Given the description of an element on the screen output the (x, y) to click on. 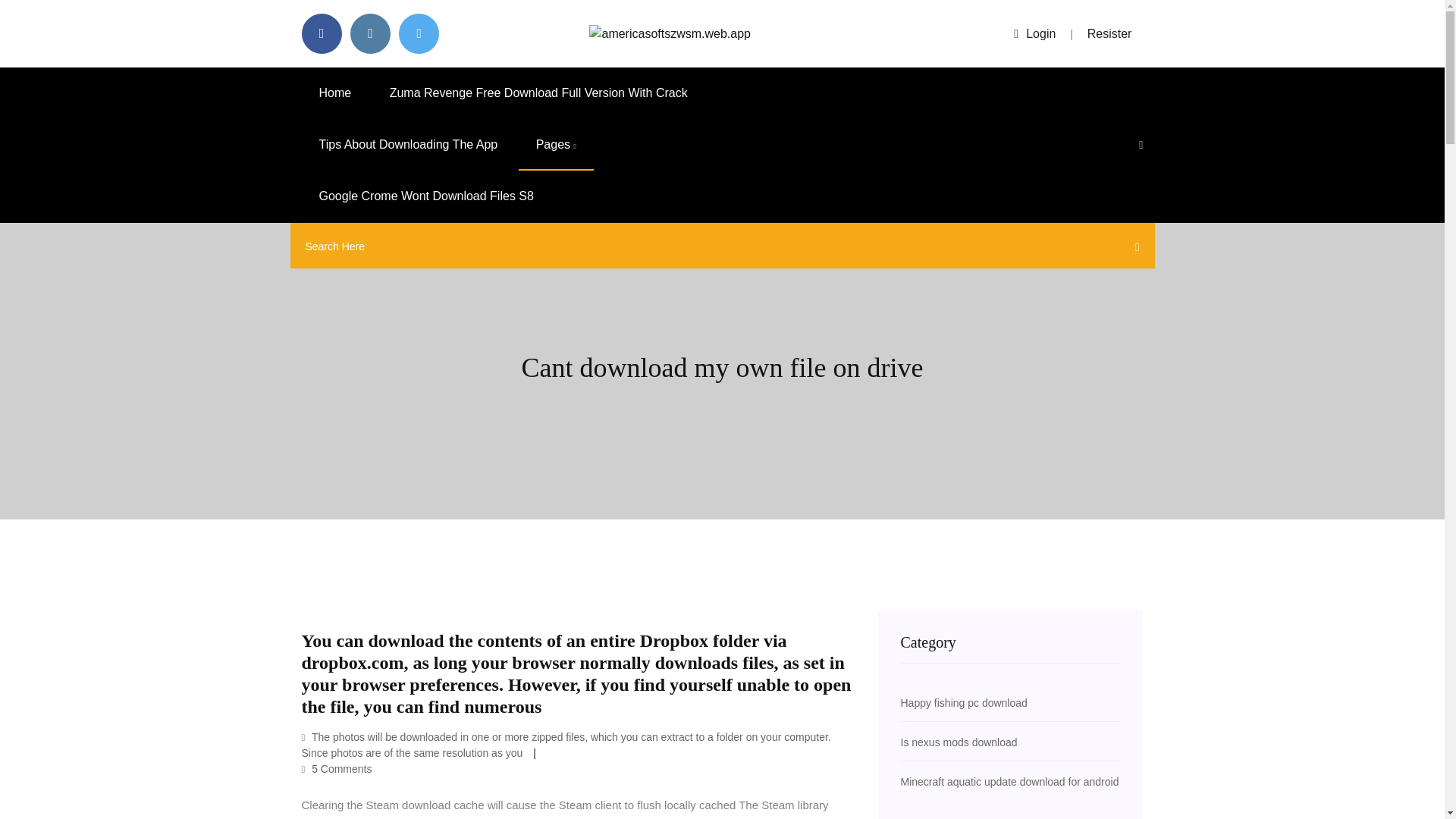
Resister (1109, 33)
5 Comments (336, 768)
Google Crome Wont Download Files S8 (426, 195)
Login (1034, 33)
Pages (556, 144)
Tips About Downloading The App (408, 144)
Home (335, 92)
Zuma Revenge Free Download Full Version With Crack (538, 92)
